Given the description of an element on the screen output the (x, y) to click on. 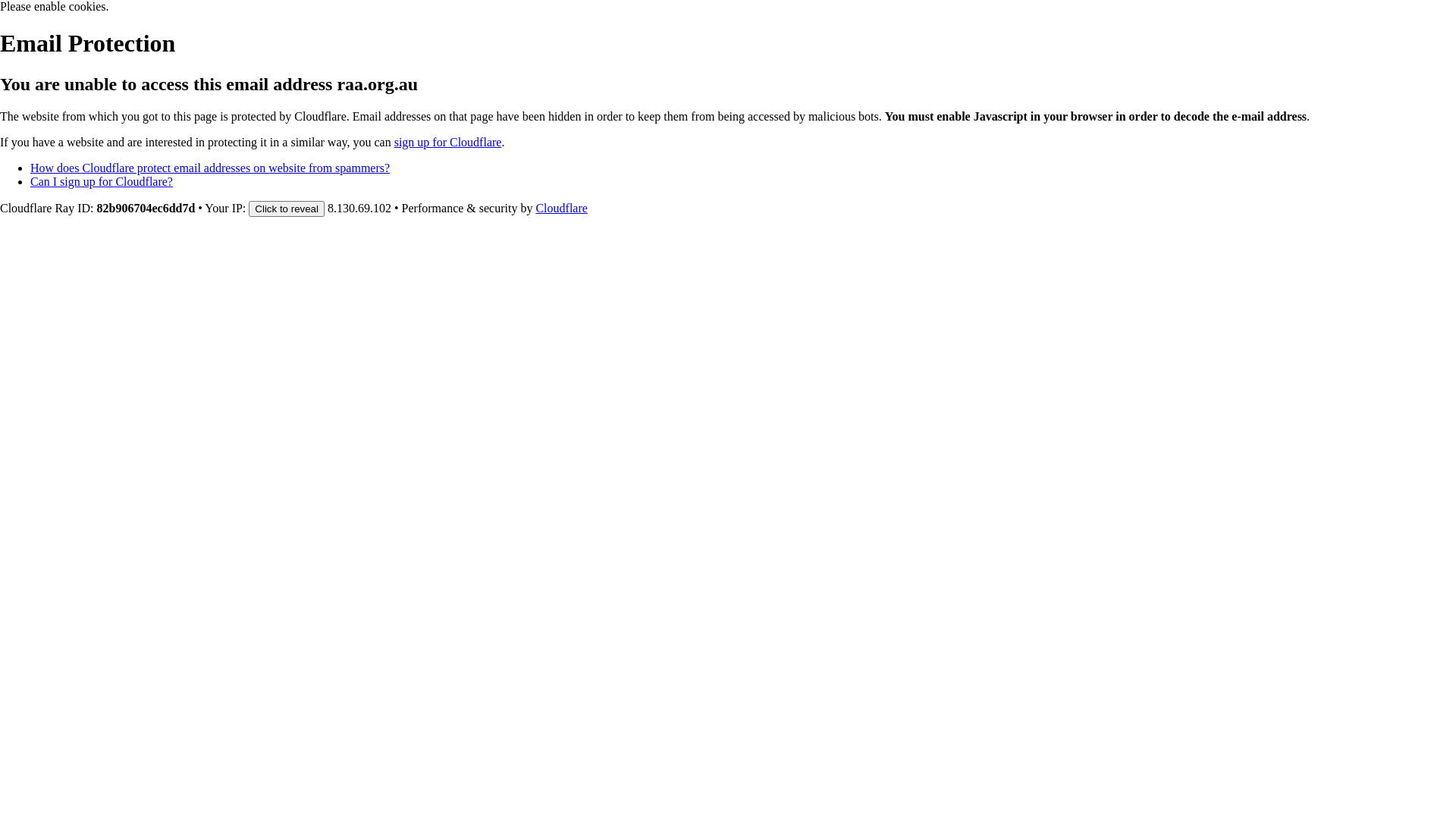
Can I sign up for Cloudflare? Element type: text (101, 181)
Click to reveal Element type: text (286, 208)
Cloudflare Element type: text (560, 207)
sign up for Cloudflare Element type: text (448, 141)
